Given the description of an element on the screen output the (x, y) to click on. 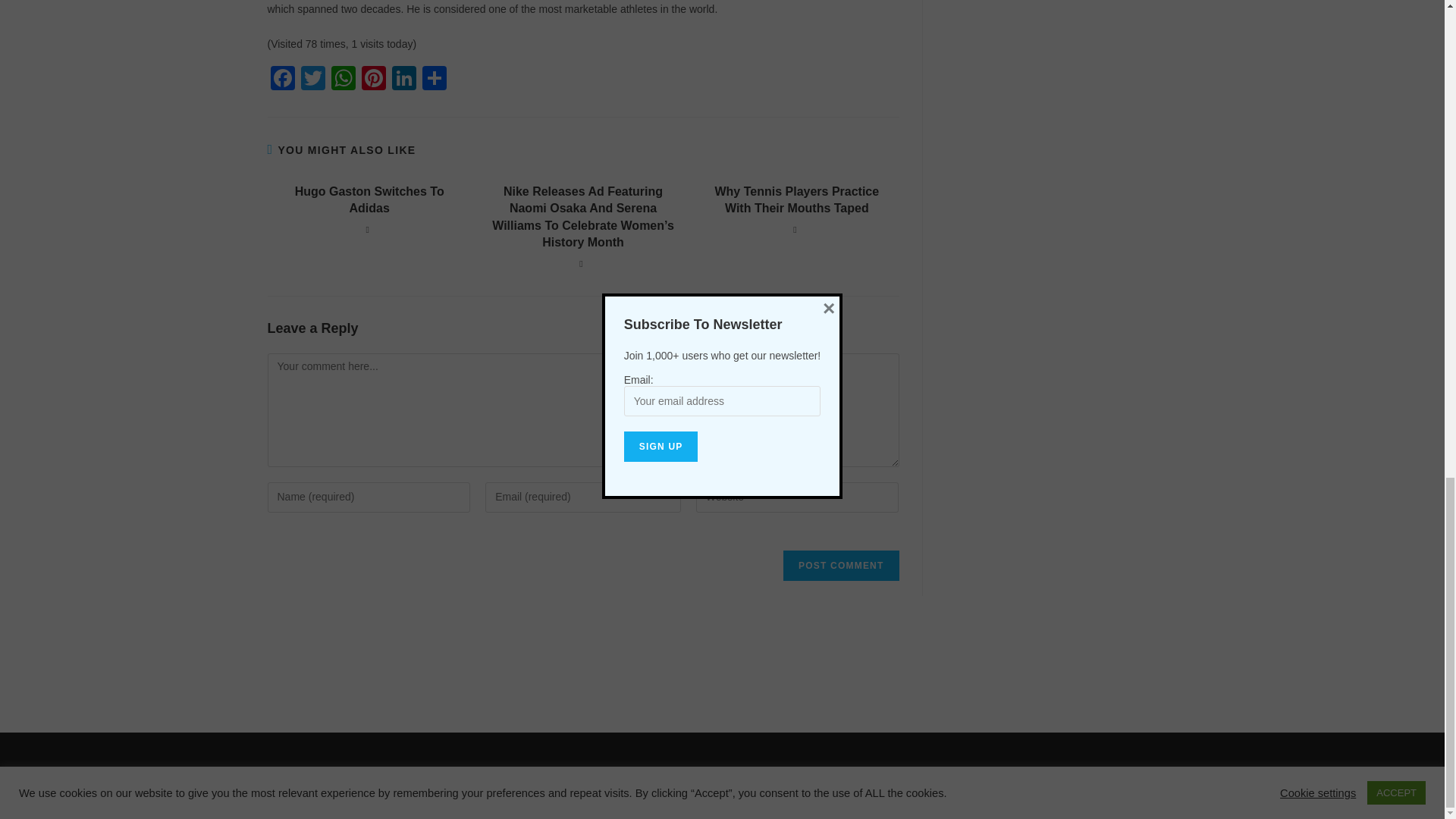
Pinterest (373, 80)
Hugo Gaston Switches To Adidas (368, 200)
Share (433, 80)
WhatsApp (342, 80)
Facebook (281, 80)
LinkedIn (403, 80)
Why Tennis Players Practice With Their Mouths Taped (796, 200)
Twitter (312, 80)
Post Comment (840, 565)
Twitter (312, 80)
Facebook (281, 80)
Post Comment (840, 565)
LinkedIn (403, 80)
WhatsApp (342, 80)
Pinterest (373, 80)
